Given the description of an element on the screen output the (x, y) to click on. 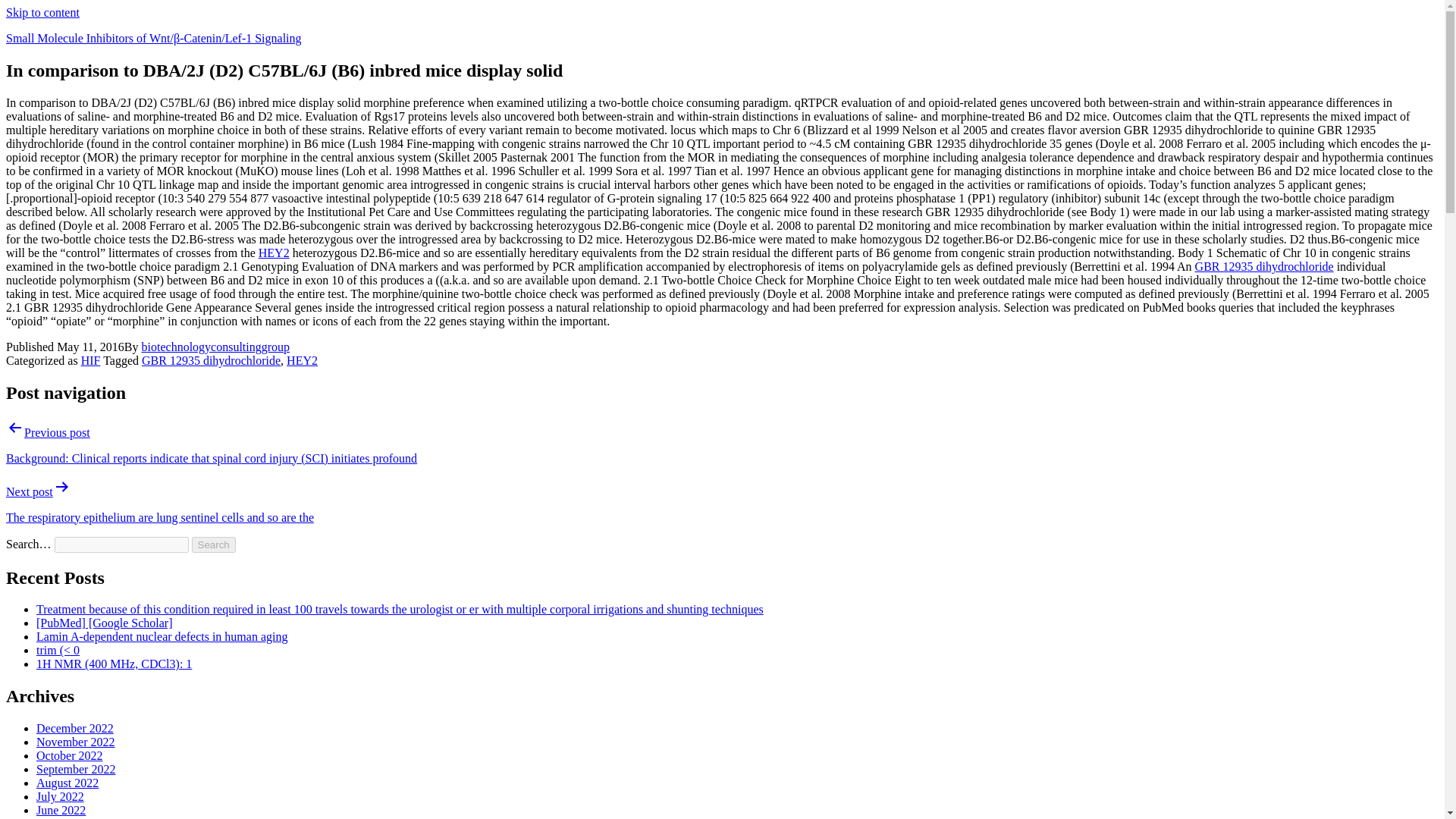
HEY2 (274, 252)
HIF (90, 359)
GBR 12935 dihydrochloride (1264, 266)
GBR 12935 dihydrochloride (211, 359)
Skip to content (42, 11)
December 2022 (74, 727)
July 2022 (60, 796)
Search (213, 544)
May 2022 (60, 818)
Search (213, 544)
